Given the description of an element on the screen output the (x, y) to click on. 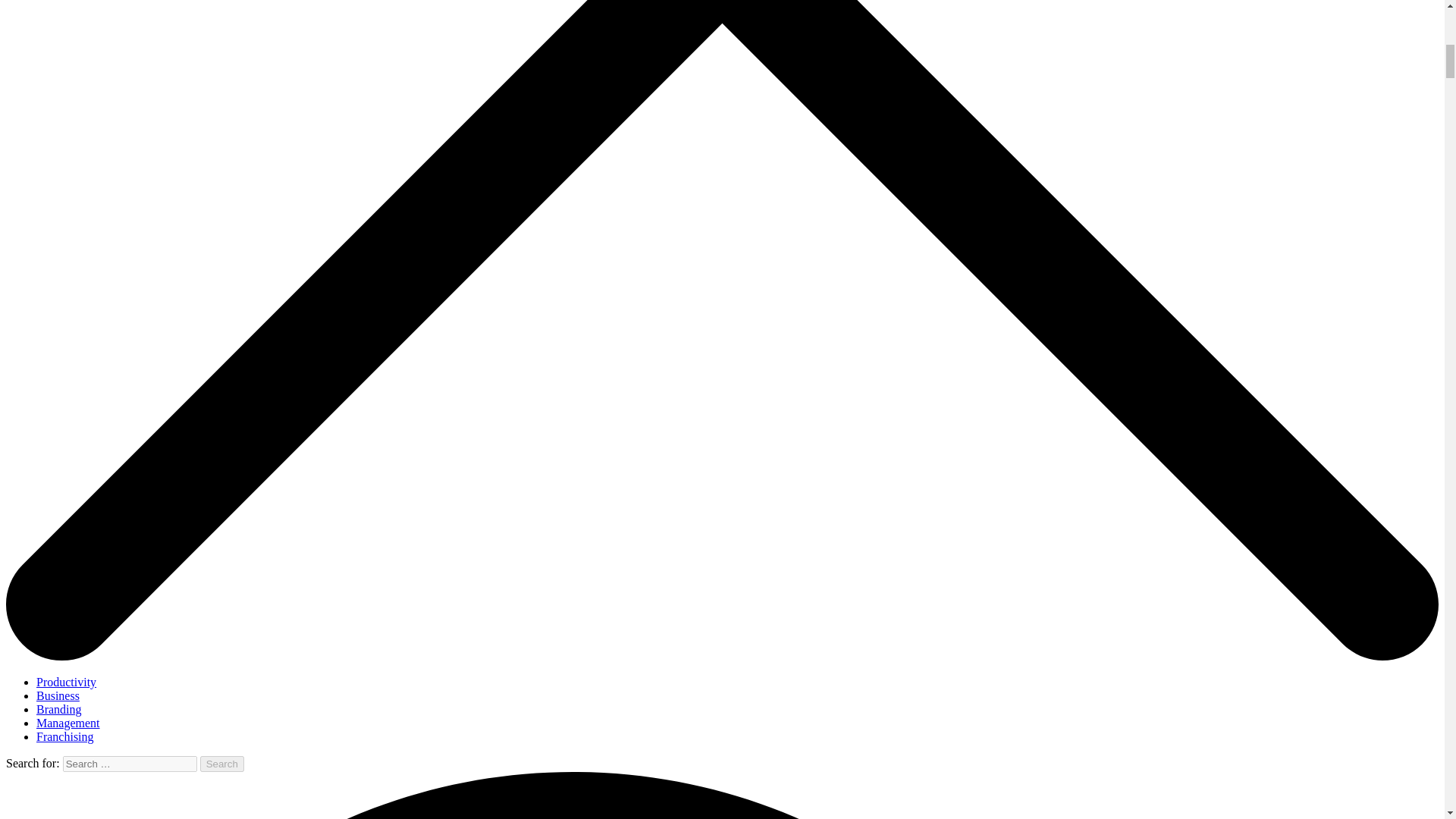
Business (58, 695)
Franchising (65, 736)
Search (222, 763)
Search (222, 763)
Search (222, 763)
Productivity (66, 681)
Management (68, 722)
Branding (58, 708)
